Given the description of an element on the screen output the (x, y) to click on. 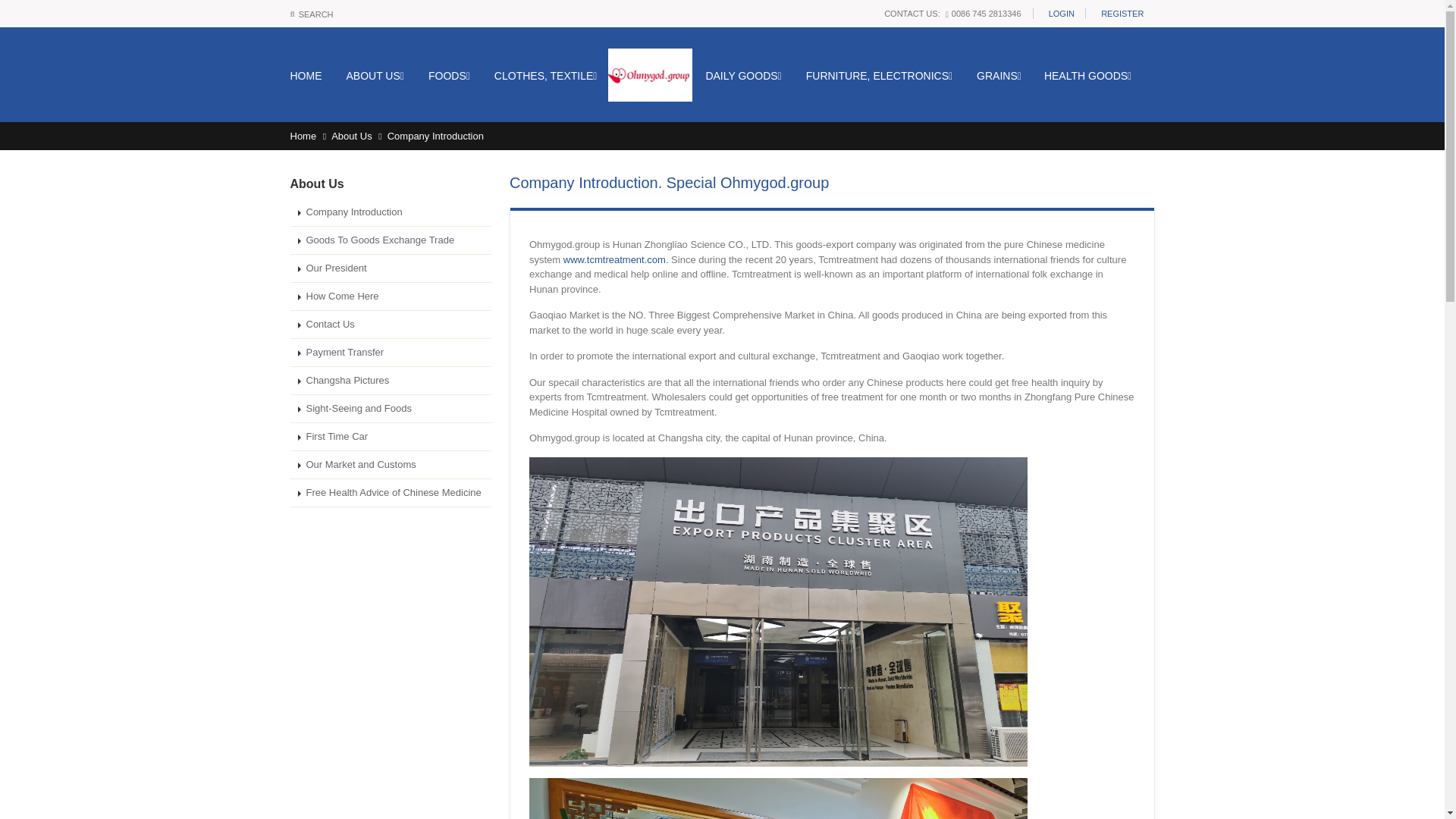
  LOGIN   (1061, 13)
SEARCH (311, 13)
HOME (311, 75)
1599497603523294.jpg (778, 798)
FOODS (448, 75)
ABOUT US (374, 75)
  REGISTER   (1122, 13)
CLOTHES, TEXTILE (545, 75)
